Given the description of an element on the screen output the (x, y) to click on. 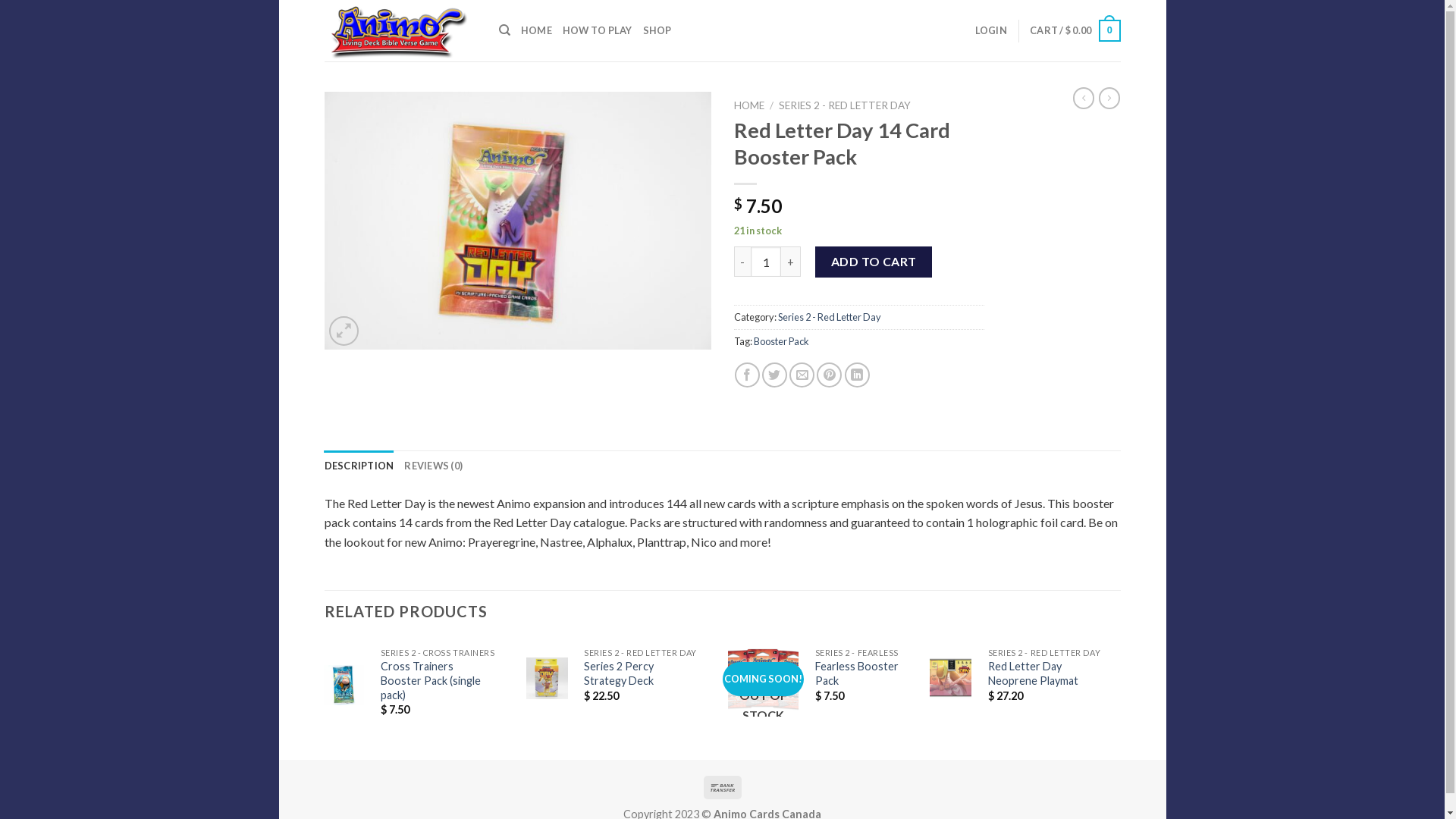
ADD TO CART Element type: text (873, 261)
Cross Trainers Booster Pack (single pack) Element type: text (437, 680)
dsc02619_3000_2000 Element type: hover (517, 220)
CART / $ 0.00
0 Element type: text (1074, 30)
animocards.ca Element type: hover (400, 30)
Email to a Friend Element type: hover (801, 374)
SERIES 2 - RED LETTER DAY Element type: text (844, 105)
Red Letter Day Neoprene Playmat Element type: text (1044, 673)
Fearless Booster Pack Element type: text (856, 673)
HOME Element type: text (749, 105)
Pin on Pinterest Element type: hover (828, 374)
Zoom Element type: hover (343, 330)
HOME Element type: text (536, 30)
Series 2 Percy Strategy Deck Element type: text (639, 673)
Share on Twitter Element type: hover (774, 374)
REVIEWS (0) Element type: text (433, 465)
Series 2 - Red Letter Day Element type: text (829, 316)
DESCRIPTION Element type: text (359, 465)
SHOP Element type: text (657, 30)
HOW TO PLAY Element type: text (597, 30)
Share on LinkedIn Element type: hover (856, 374)
Booster Pack Element type: text (781, 341)
Share on Facebook Element type: hover (746, 374)
LOGIN Element type: text (991, 30)
